Given the description of an element on the screen output the (x, y) to click on. 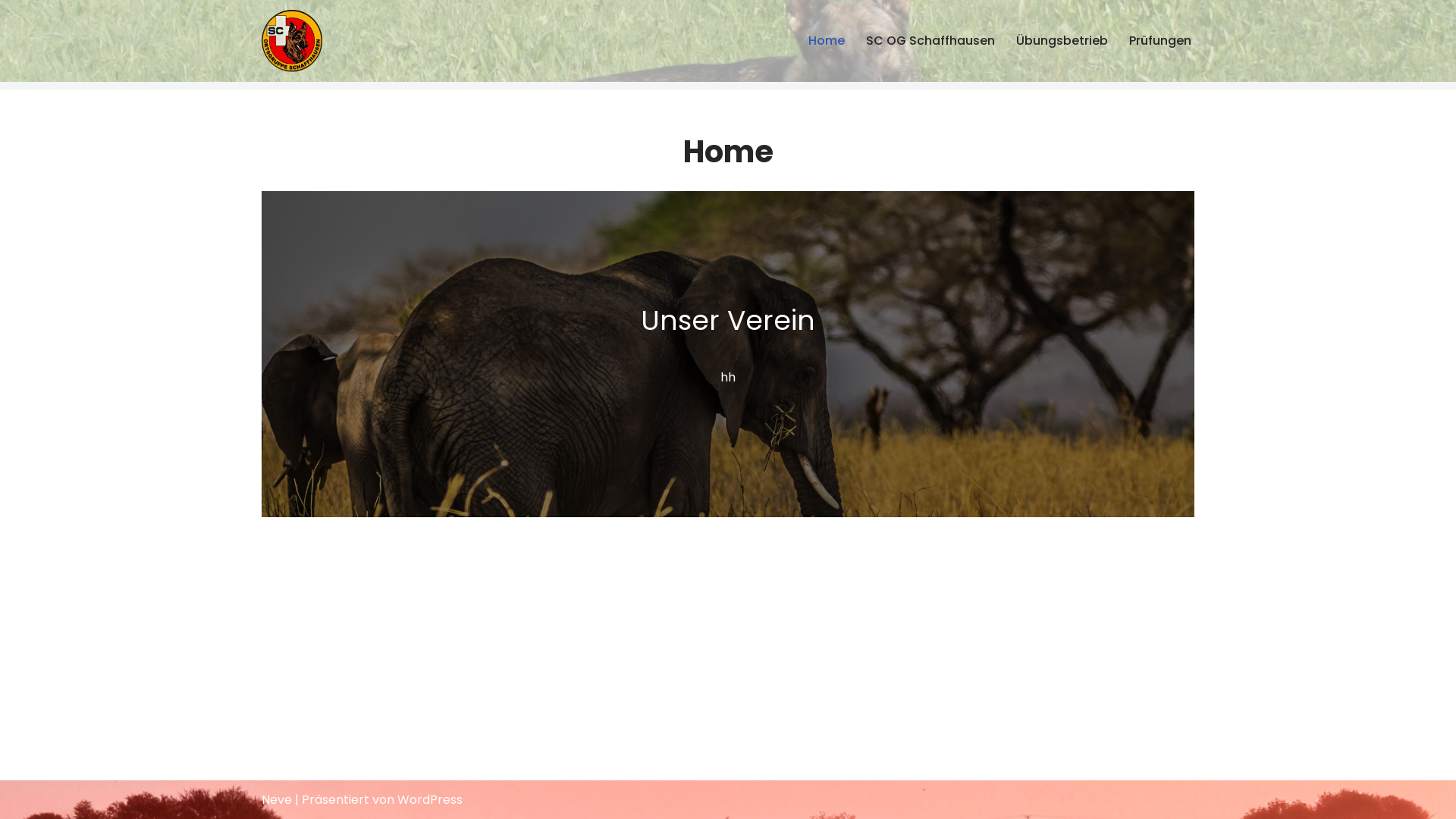
Neve Element type: text (276, 799)
SC OG Schaffhausen Element type: text (930, 40)
Zum Inhalt springen Element type: text (11, 31)
Home Element type: text (826, 40)
WordPress Element type: text (429, 799)
Buchenloo Element type: hover (291, 40)
